Given the description of an element on the screen output the (x, y) to click on. 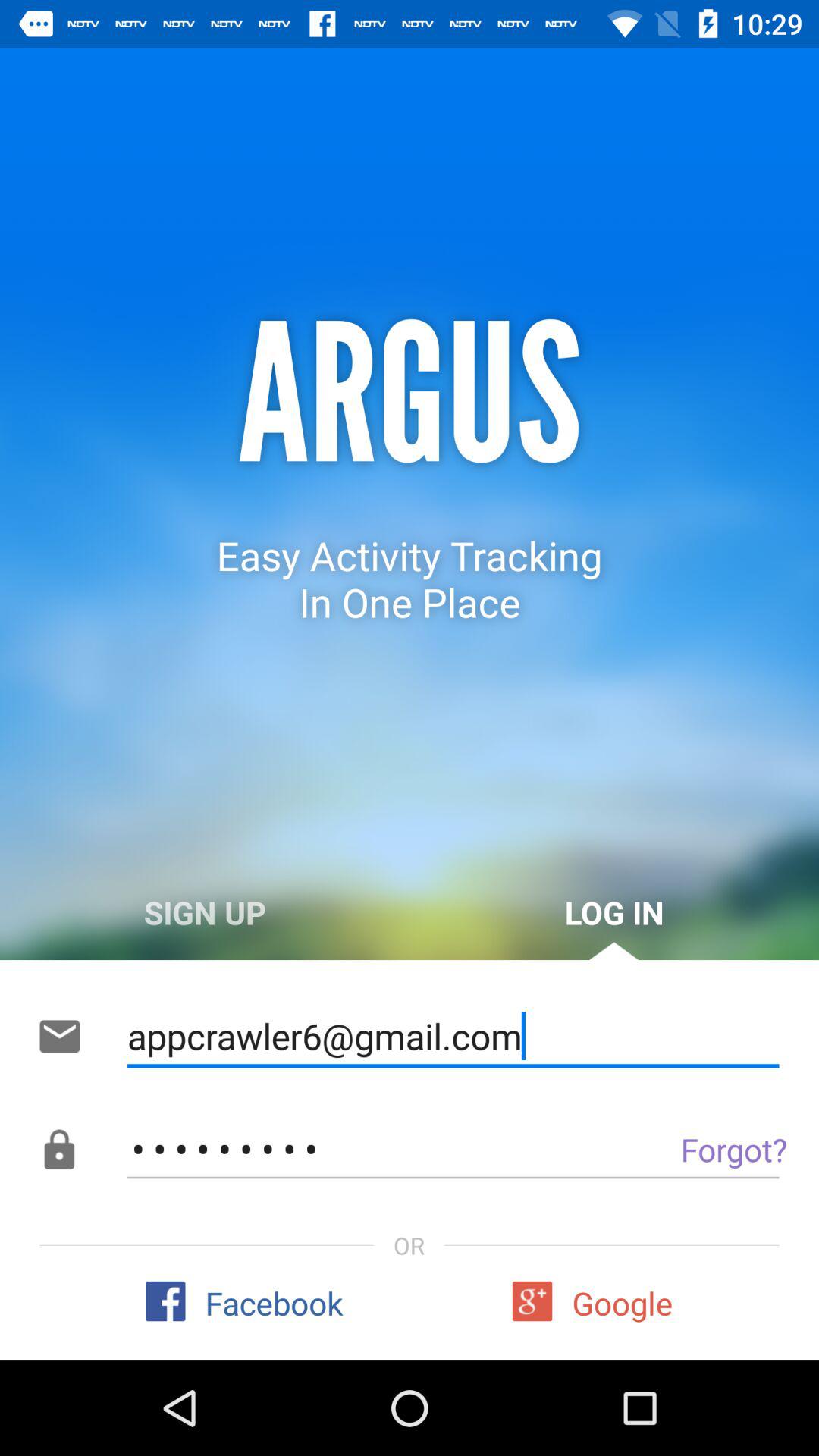
swipe to the sign up (204, 912)
